Given the description of an element on the screen output the (x, y) to click on. 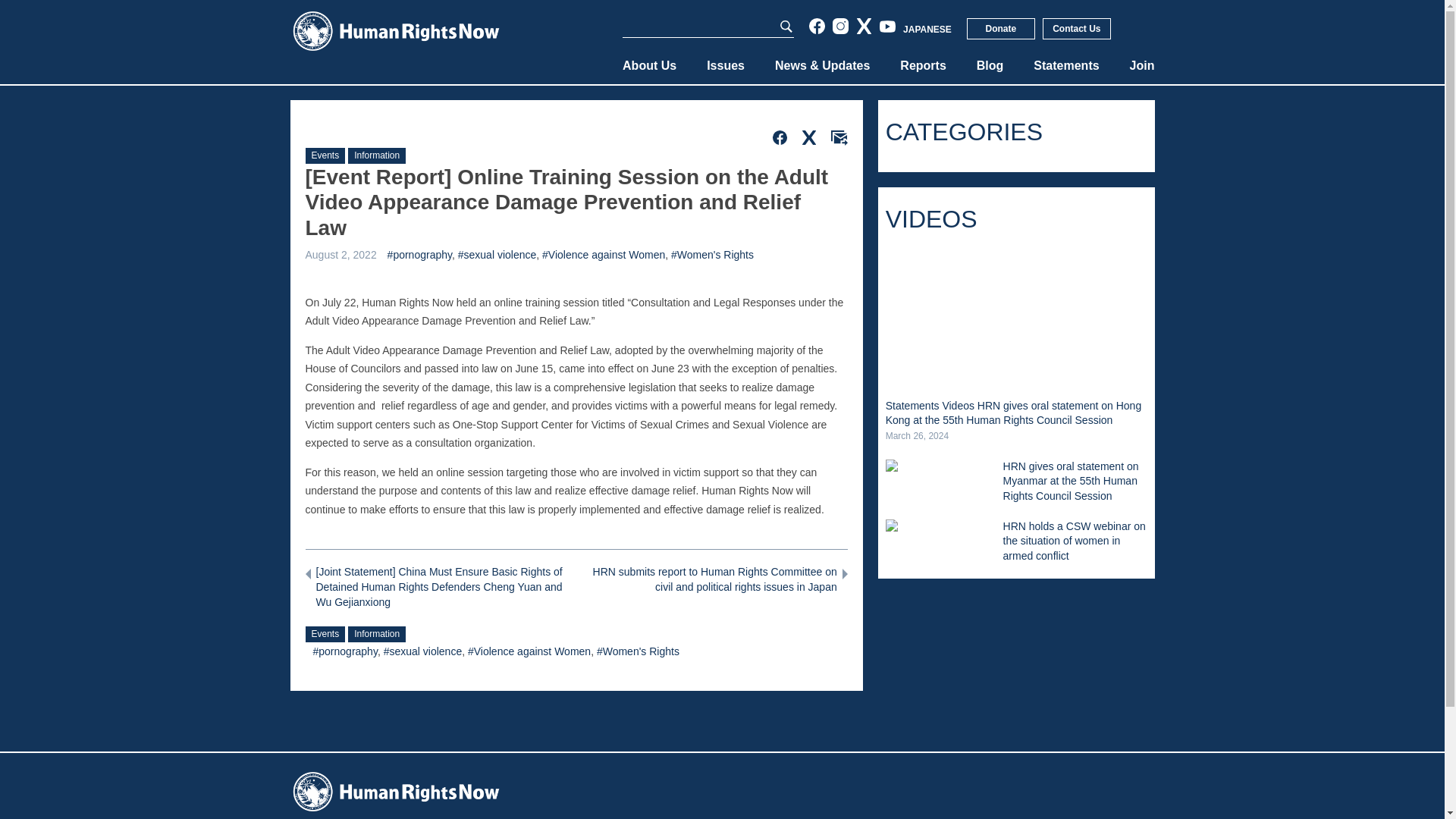
facebook (817, 26)
search (786, 26)
Issues (725, 65)
X (864, 26)
search (786, 26)
About Us (650, 65)
search (786, 26)
Join (1141, 65)
Statements (1066, 65)
JAPANESE (927, 29)
Donate (1000, 28)
Reports (921, 65)
YouTube video player (1016, 317)
youtube (887, 26)
instagram (840, 26)
